Given the description of an element on the screen output the (x, y) to click on. 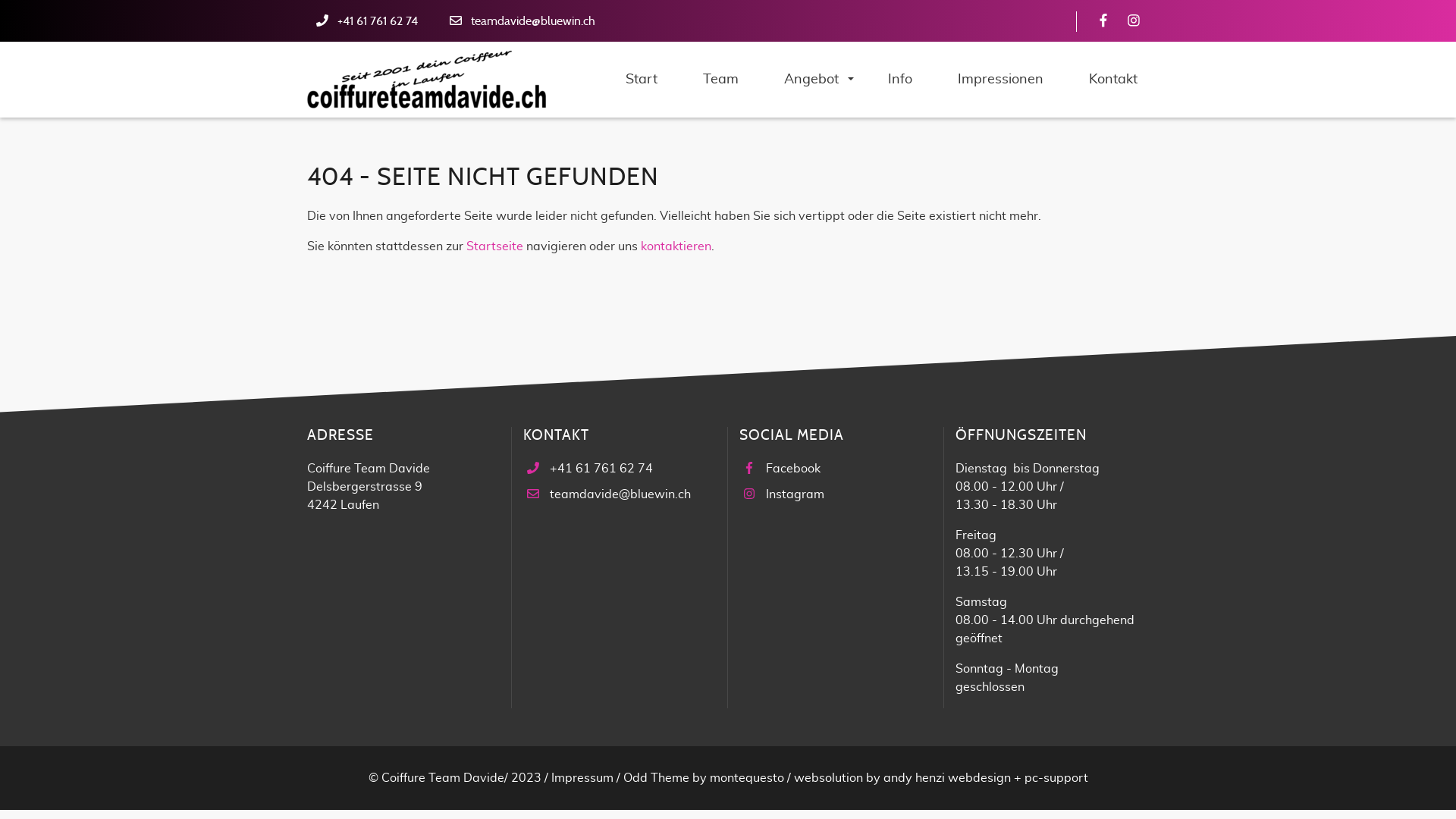
Kontakt Element type: text (1112, 79)
andy henzi webdesign + pc-support Element type: text (984, 777)
teamdavide@bluewin.ch Element type: text (532, 21)
Odd Theme Element type: text (656, 777)
teamdavide@bluewin.ch Element type: text (619, 494)
Facebook Element type: text (792, 468)
Info Element type: text (899, 79)
kontaktieren Element type: text (675, 246)
+41 61 761 62 74 Element type: text (600, 468)
Impressionen Element type: text (1000, 79)
Startseite Element type: text (494, 246)
montequesto Element type: text (746, 777)
Team Element type: text (720, 79)
Impressum Element type: text (581, 777)
Angebot Element type: text (812, 79)
Start Element type: text (641, 79)
+41 61 761 62 74 Element type: text (377, 21)
Instagram Element type: text (794, 494)
